Given the description of an element on the screen output the (x, y) to click on. 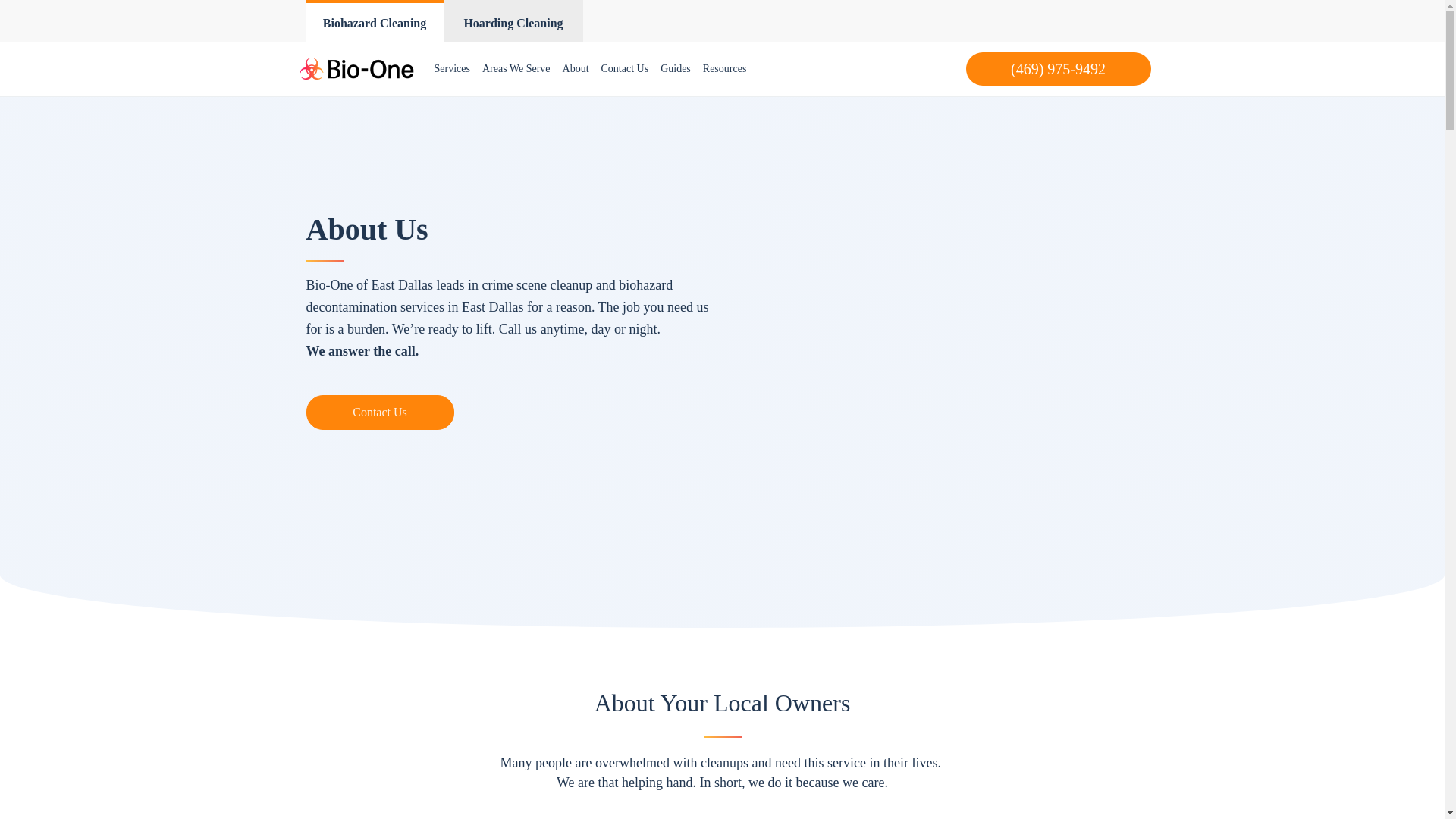
Services (452, 68)
Areas We Serve (516, 68)
Guides (675, 68)
Contact Us (625, 68)
Resources (724, 68)
About (575, 68)
Biohazard Cleaning (374, 21)
Contact Us (379, 411)
Hoarding Cleaning (513, 21)
